Given the description of an element on the screen output the (x, y) to click on. 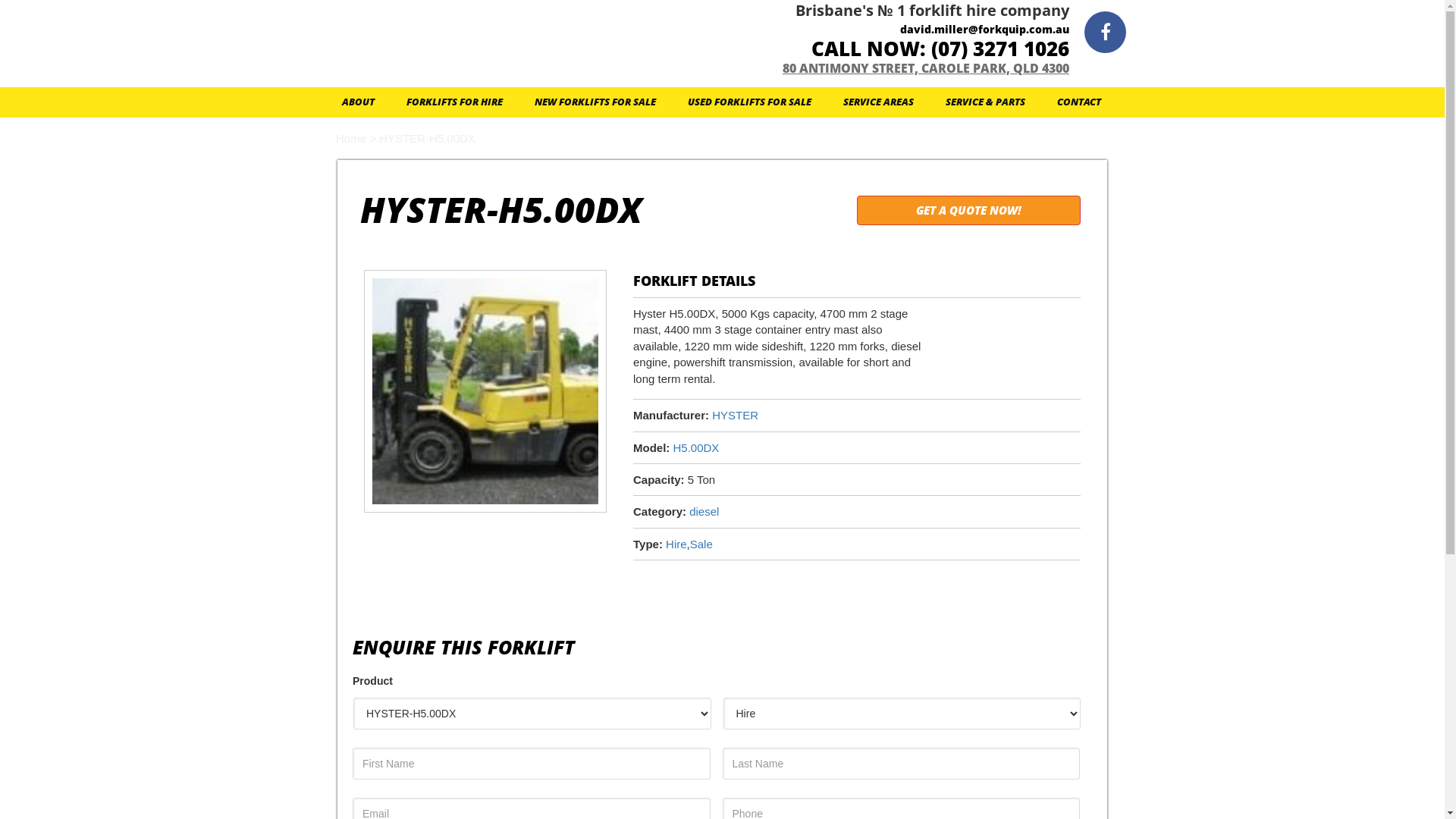
GET A QUOTE NOW! Element type: text (968, 210)
ABOUT Element type: text (358, 101)
H5.00DX Element type: text (695, 447)
NEW FORKLIFTS FOR SALE Element type: text (595, 101)
FORKLIFTS FOR HIRE Element type: text (454, 101)
SERVICE AREAS Element type: text (878, 101)
SERVICE & PARTS Element type: text (985, 101)
david.miller@forkquip.com.au Element type: text (984, 28)
Sale Element type: text (701, 543)
USED FORKLIFTS FOR SALE Element type: text (749, 101)
Hire Element type: text (676, 543)
HYSTER Element type: text (735, 414)
Home Element type: text (350, 137)
CALL NOW: (07) 3271 1026 Element type: text (940, 48)
diesel Element type: text (703, 511)
80 ANTIMONY STREET, CAROLE PARK, QLD 4300 Element type: text (925, 67)
CONTACT Element type: text (1078, 101)
